Given the description of an element on the screen output the (x, y) to click on. 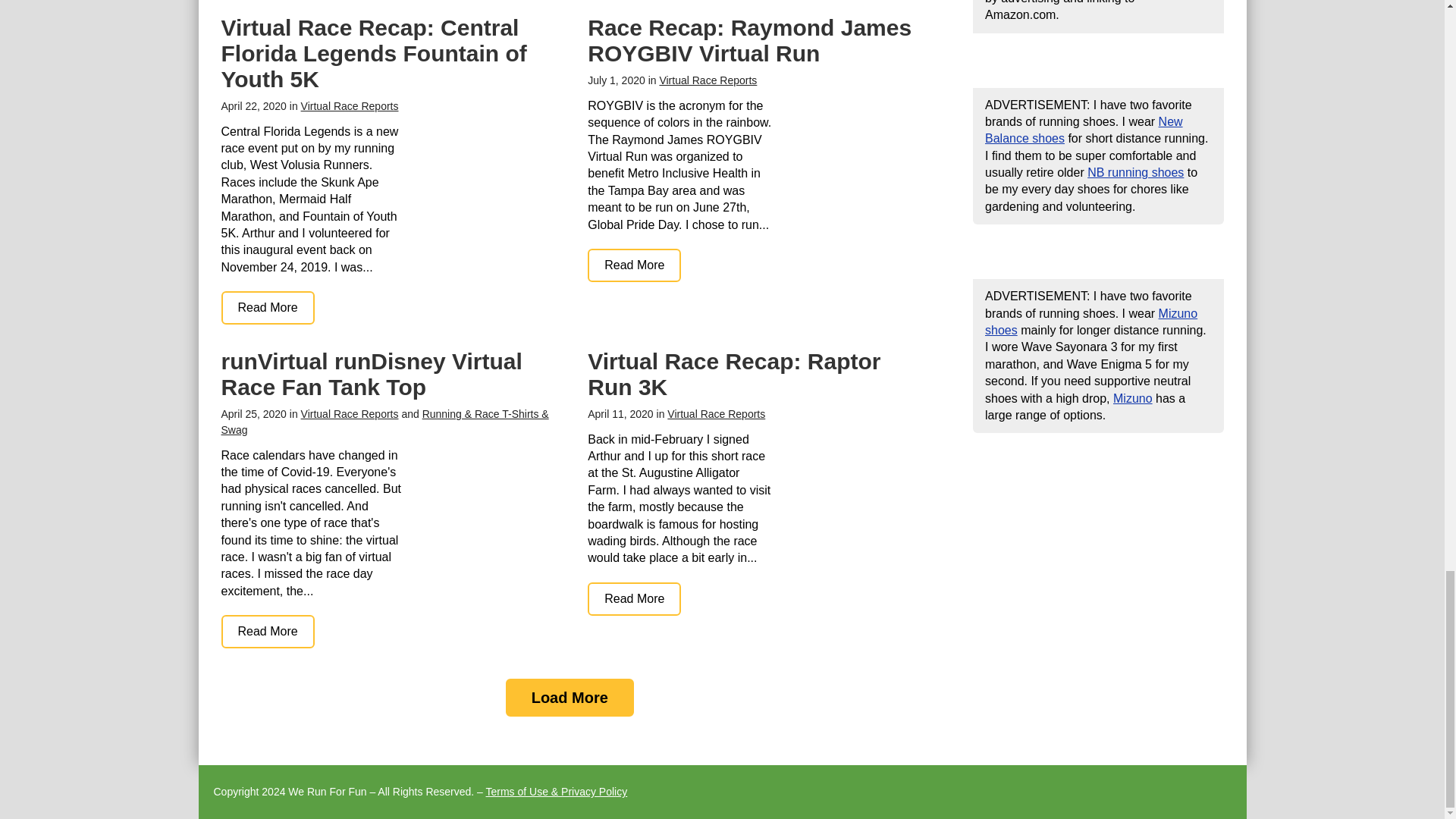
Read More (267, 631)
runVirtual runDisney Virtual Race Fan Tank Top (267, 631)
Read More (634, 264)
Race Recap: Raymond James ROYGBIV Virtual Run (749, 40)
Virtual Race Recap: Raptor Run 3K (634, 598)
Virtual Race Recap: Raptor Run 3K (734, 373)
Race Recap: Raymond James ROYGBIV Virtual Run (634, 264)
Virtual Race Reports (708, 80)
runVirtual runDisney Virtual Race Fan Tank Top (371, 373)
Read More (634, 598)
Read More (267, 307)
Load More (569, 697)
Virtual Race Reports (349, 105)
